Given the description of an element on the screen output the (x, y) to click on. 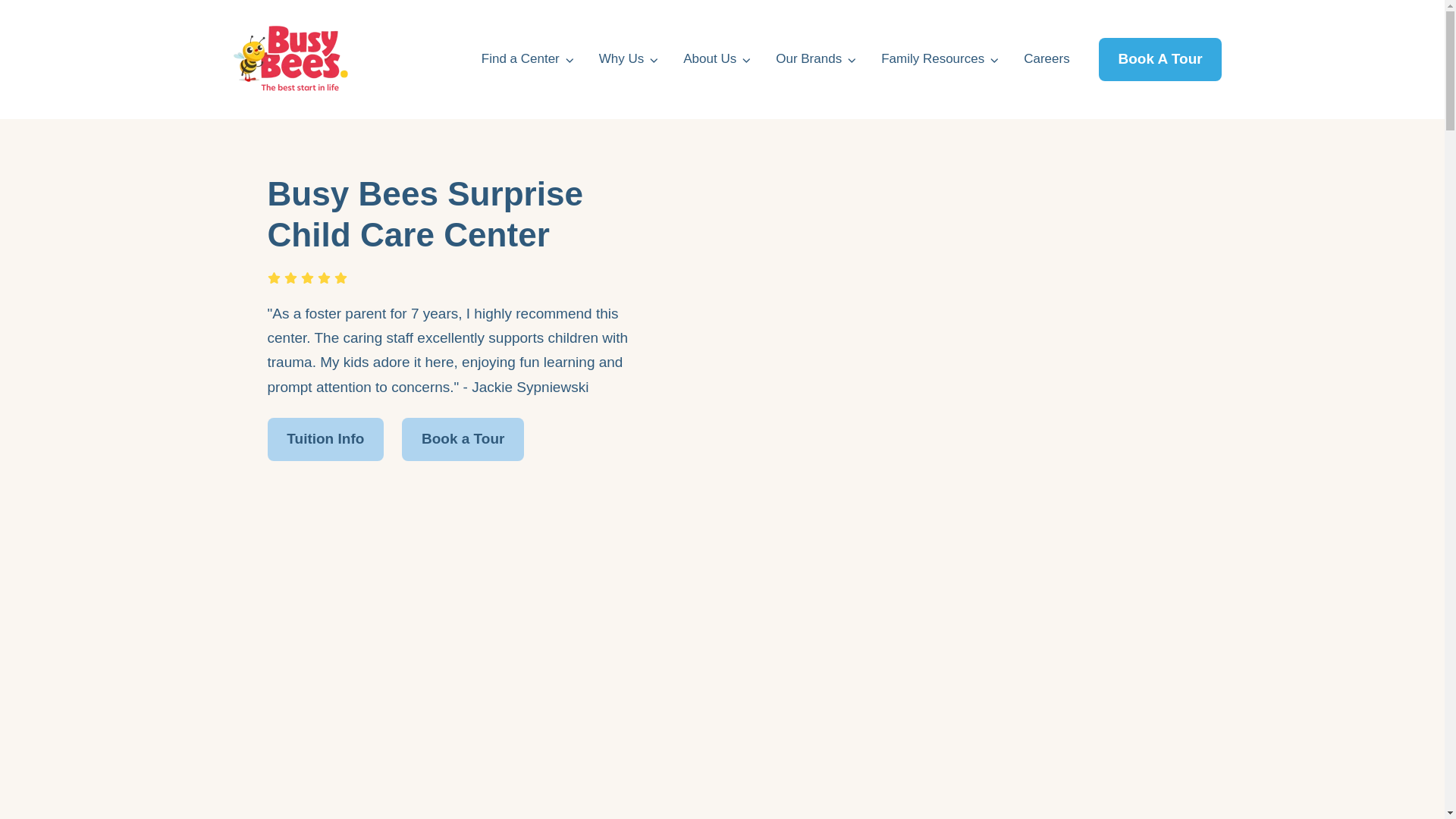
Family Resources (939, 58)
About Us (716, 58)
Busy Bees USA (290, 59)
Careers (1045, 58)
Our Brands (816, 58)
Why Us (628, 58)
Book A Tour (1161, 59)
Find a Center (528, 58)
